Given the description of an element on the screen output the (x, y) to click on. 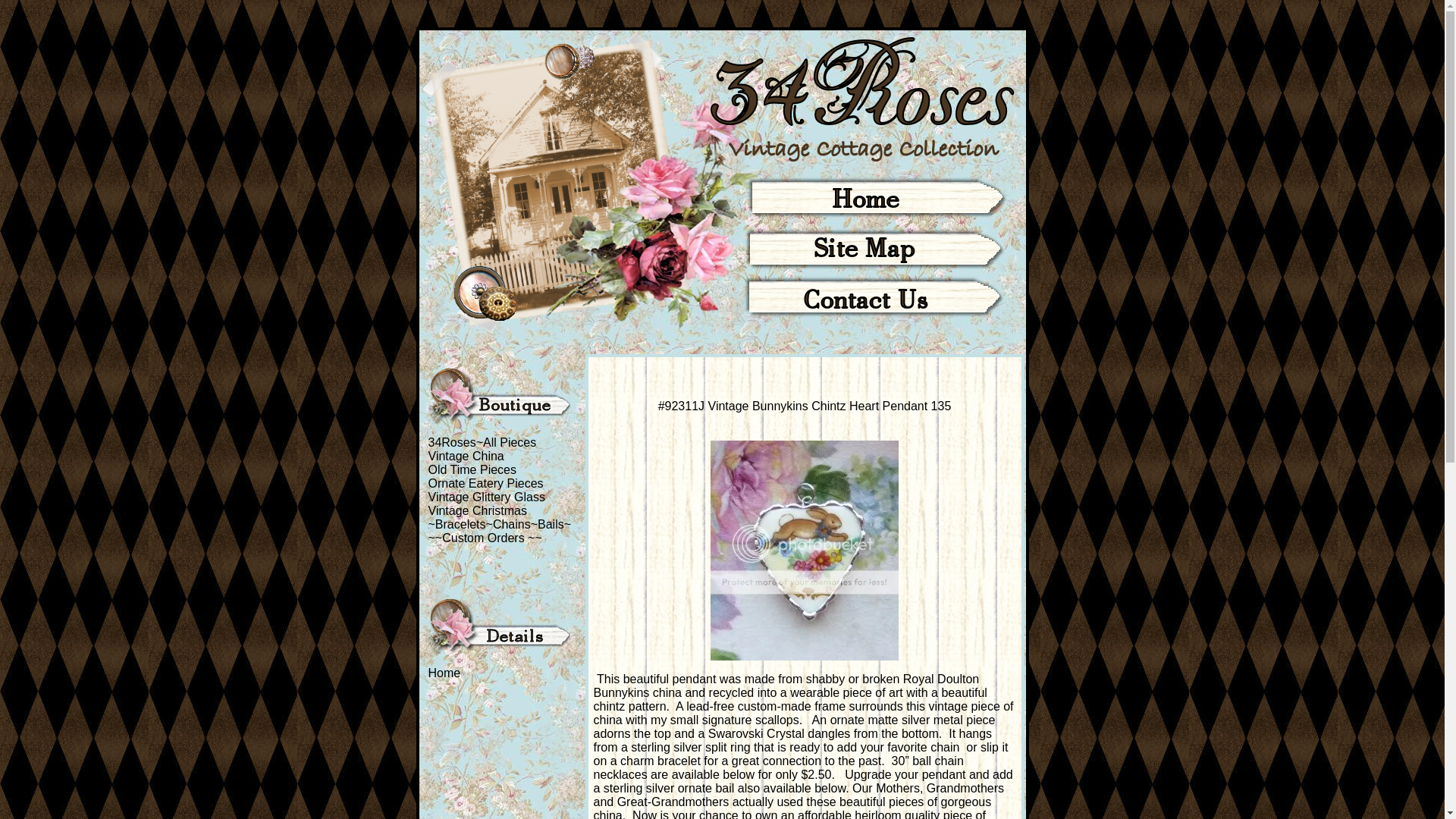
Old Time Pieces Element type: text (471, 469)
Home Element type: text (443, 672)
~~Custom Orders ~~ Element type: text (484, 537)
~Bracelets~Chains~Bails~ Element type: text (499, 523)
Vintage Christmas Element type: text (476, 510)
34Roses~All Pieces Vintage China Element type: text (481, 449)
Vintage Glittery Glass Element type: text (485, 496)
Ornate Eatery Pieces Element type: text (484, 482)
Vintage Bunnykins Chintz Heart Pendant 135 Element type: hover (804, 550)
